Given the description of an element on the screen output the (x, y) to click on. 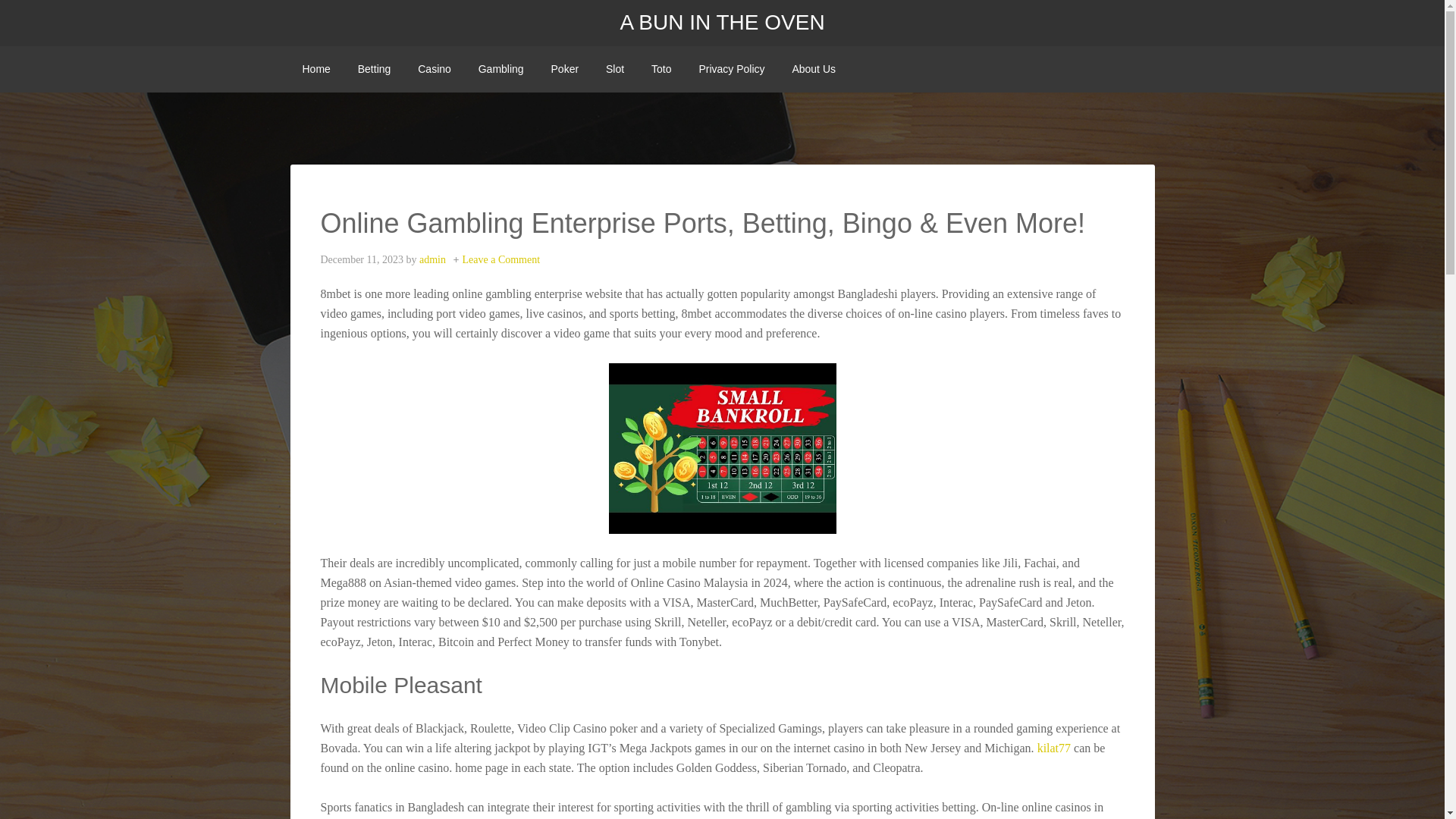
Slot (615, 68)
admin (432, 259)
Privacy Policy (730, 68)
Leave a Comment (500, 259)
Casino (434, 68)
Poker (564, 68)
Home (315, 68)
Toto (660, 68)
Gambling (500, 68)
About Us (812, 68)
Betting (374, 68)
kilat77 (1053, 748)
A BUN IN THE OVEN (722, 22)
